Given the description of an element on the screen output the (x, y) to click on. 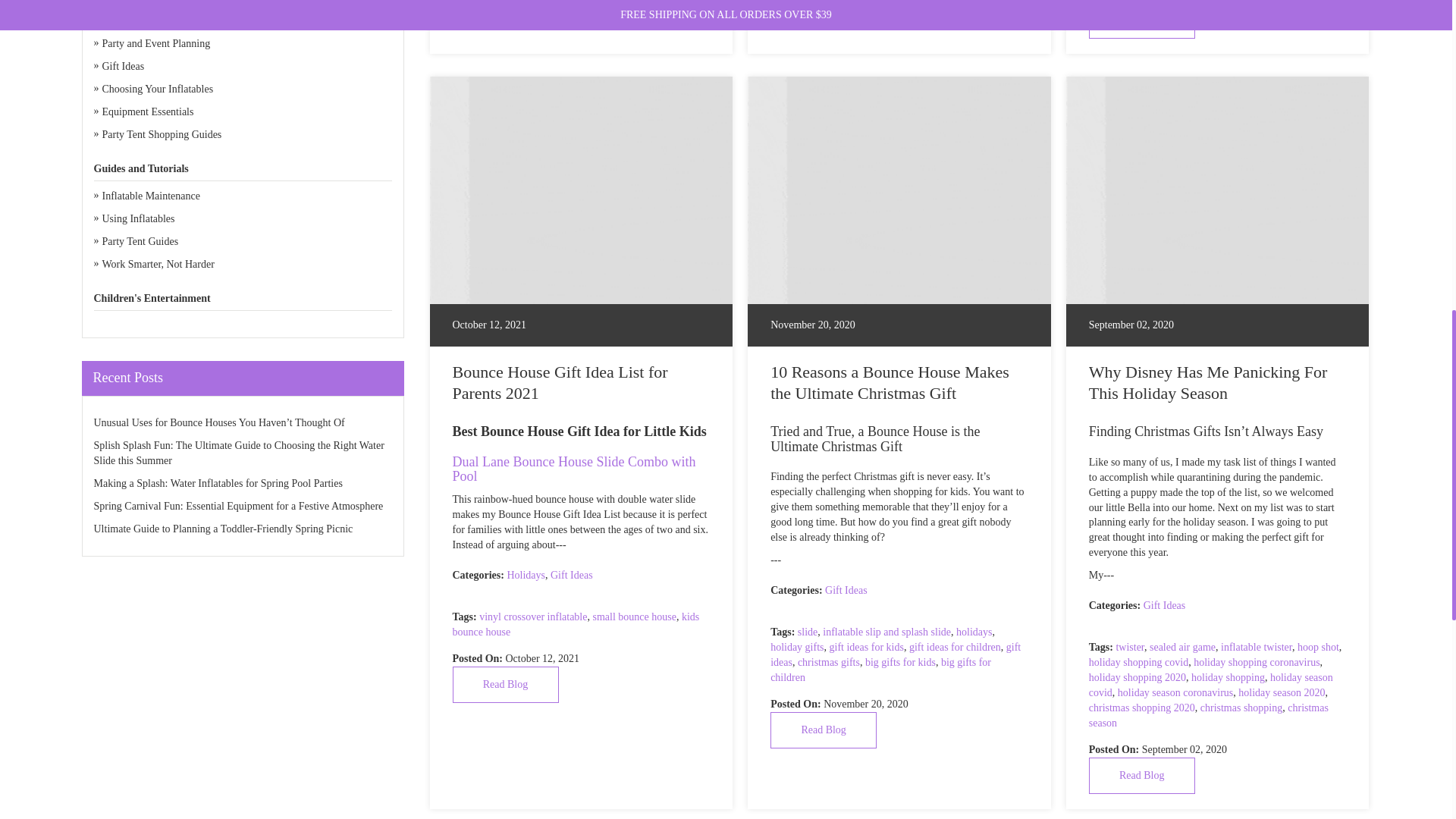
5 Inflatables to Buy for Grandkids this Black Friday (1142, 20)
Bounce House Gift Idea List for Parents 2021 (580, 189)
Ultimate Toddler Gift Guide (823, 11)
